Given the description of an element on the screen output the (x, y) to click on. 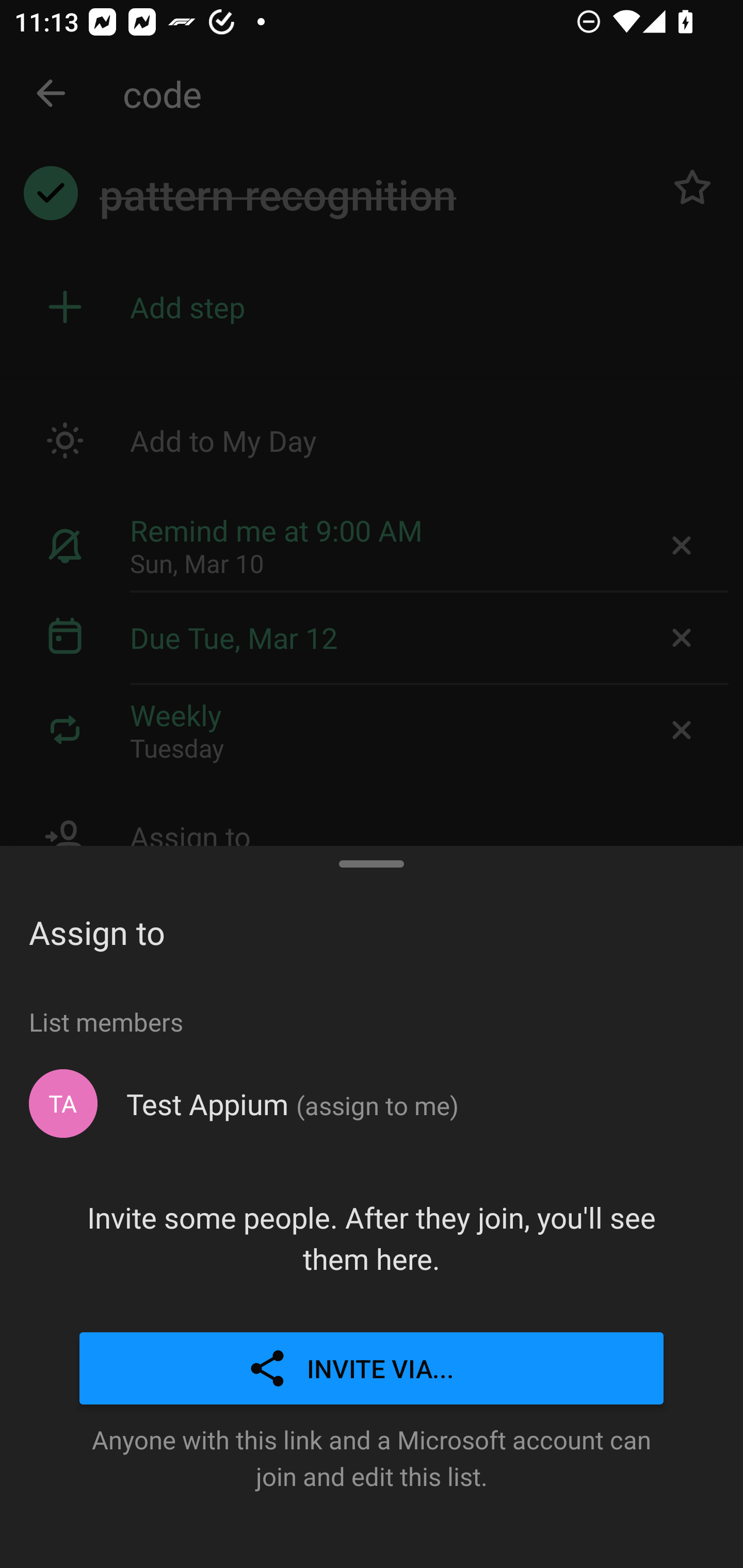
TA Test Appium (assign to me) (371, 1103)
INVITE VIA... (371, 1368)
